Given the description of an element on the screen output the (x, y) to click on. 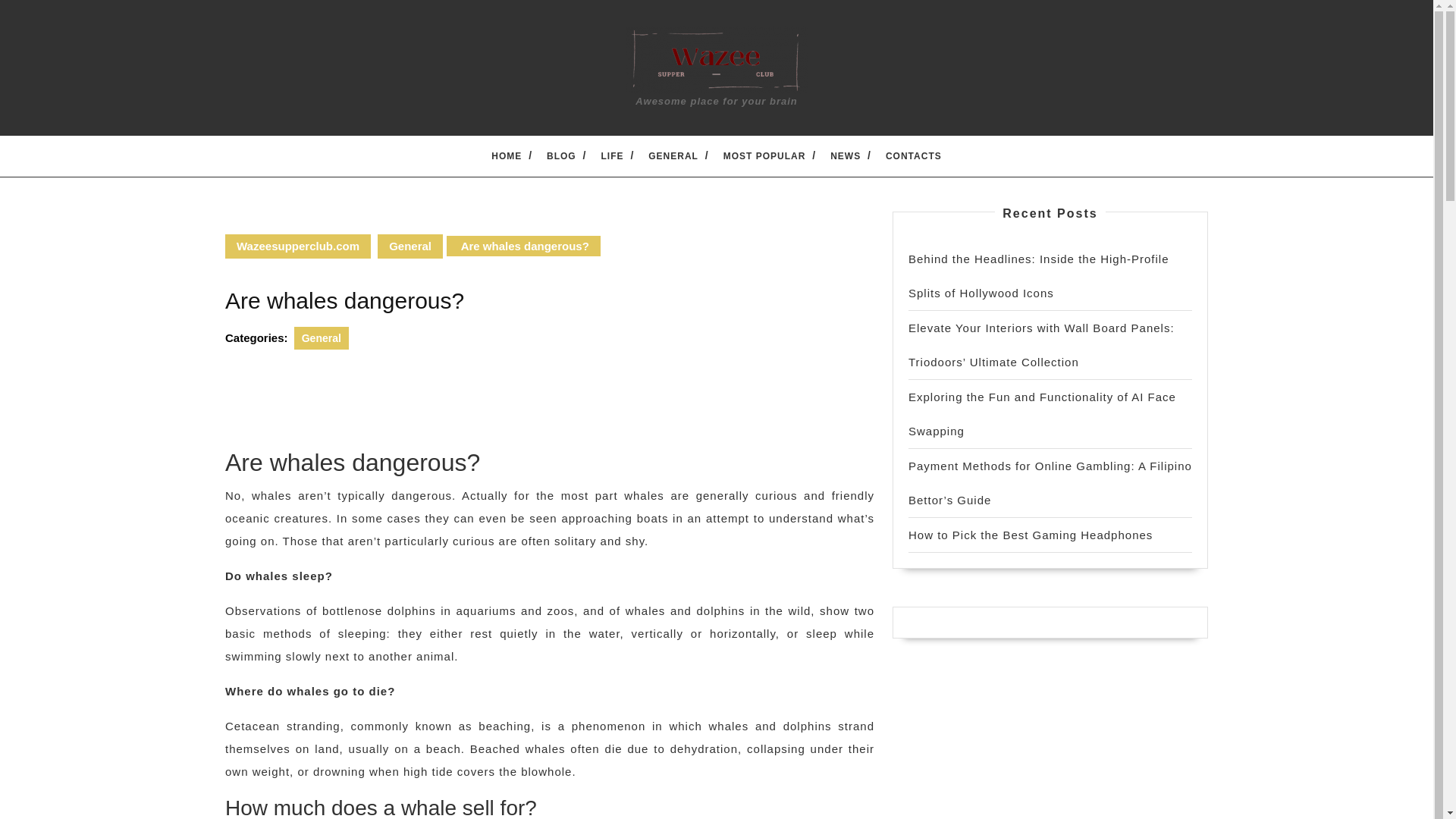
MOST POPULAR (764, 155)
General (321, 337)
Wazeesupperclub.com (298, 245)
Exploring the Fun and Functionality of AI Face Swapping (1042, 413)
BLOG (561, 155)
HOME (506, 155)
GENERAL (673, 155)
NEWS (845, 155)
How to Pick the Best Gaming Headphones (1030, 534)
CONTACTS (913, 155)
General (409, 245)
